Given the description of an element on the screen output the (x, y) to click on. 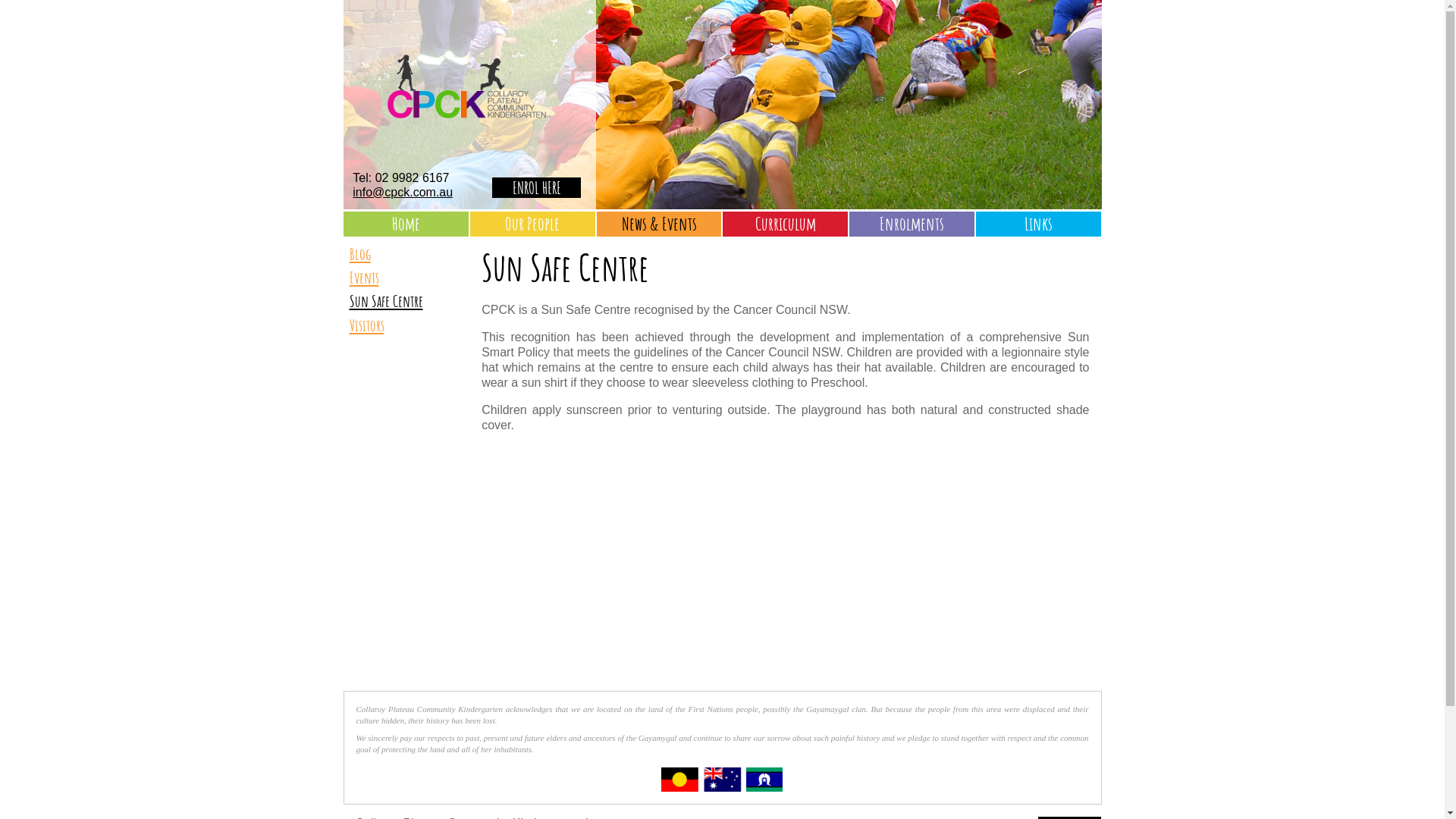
Collaroy Plateau Community Kindergarten Element type: hover (469, 166)
Home Element type: text (405, 223)
Links Element type: text (1038, 223)
info@cpck.com.au Element type: text (402, 191)
Our People Element type: text (532, 223)
Curriculum Element type: text (784, 223)
Enrolments Element type: text (911, 223)
Blog Element type: text (405, 253)
ENROL HERE Element type: text (536, 187)
Events Element type: text (405, 276)
Visitors Element type: text (405, 324)
News & Events Element type: text (659, 223)
Sun Safe Centre Element type: text (405, 300)
